Given the description of an element on the screen output the (x, y) to click on. 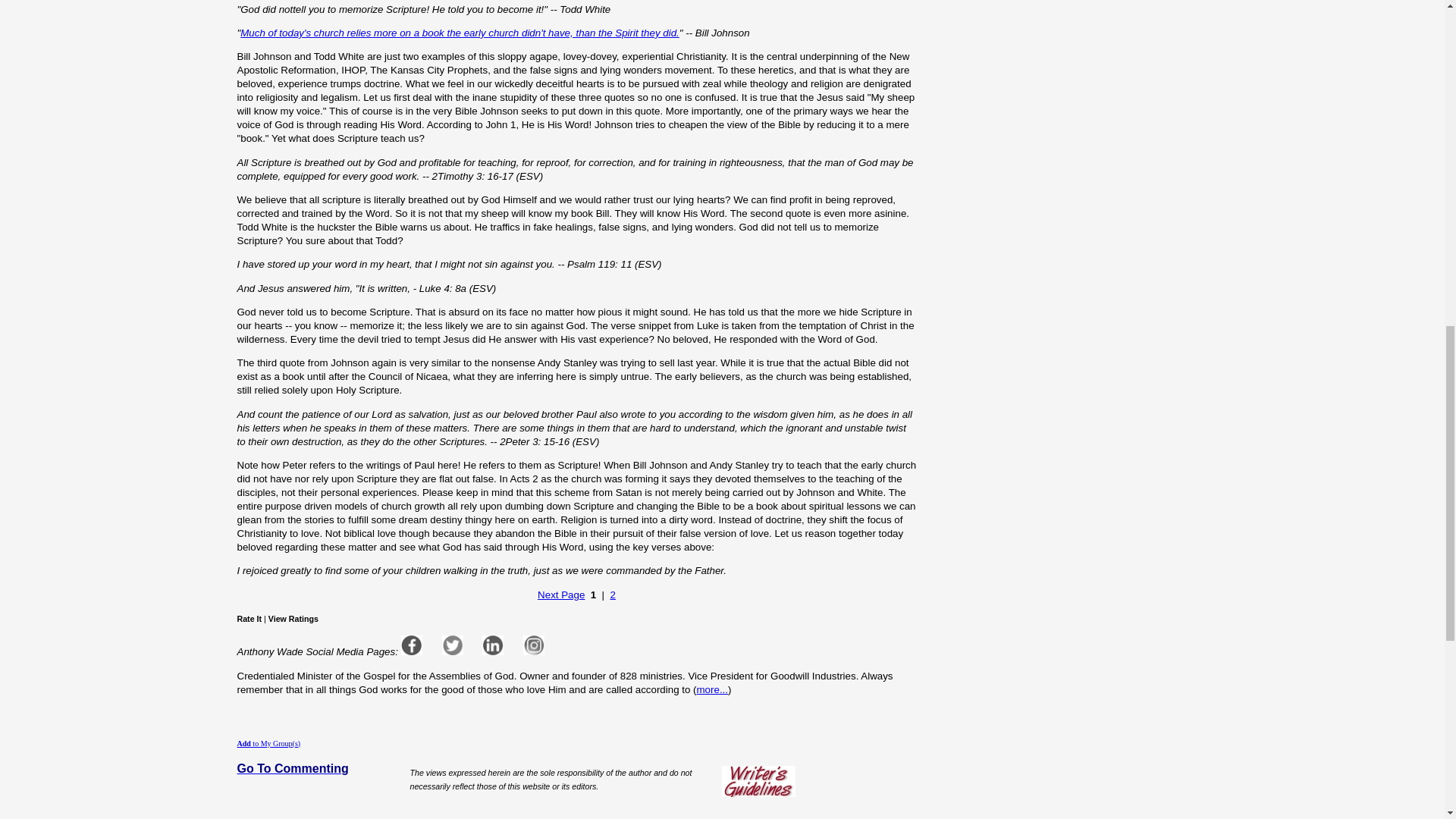
Linkedin page url on login Profile not filled in (492, 645)
Twitter page url on login Profile not filled in (452, 645)
more... (712, 689)
Facebook page url on login Profile not filled in (411, 645)
Writers Guidelines (758, 781)
Rate It (248, 618)
Go To Commenting (291, 769)
View Ratings (292, 618)
Next Page (561, 594)
Instagram page url on login Profile not filled in (533, 645)
